Given the description of an element on the screen output the (x, y) to click on. 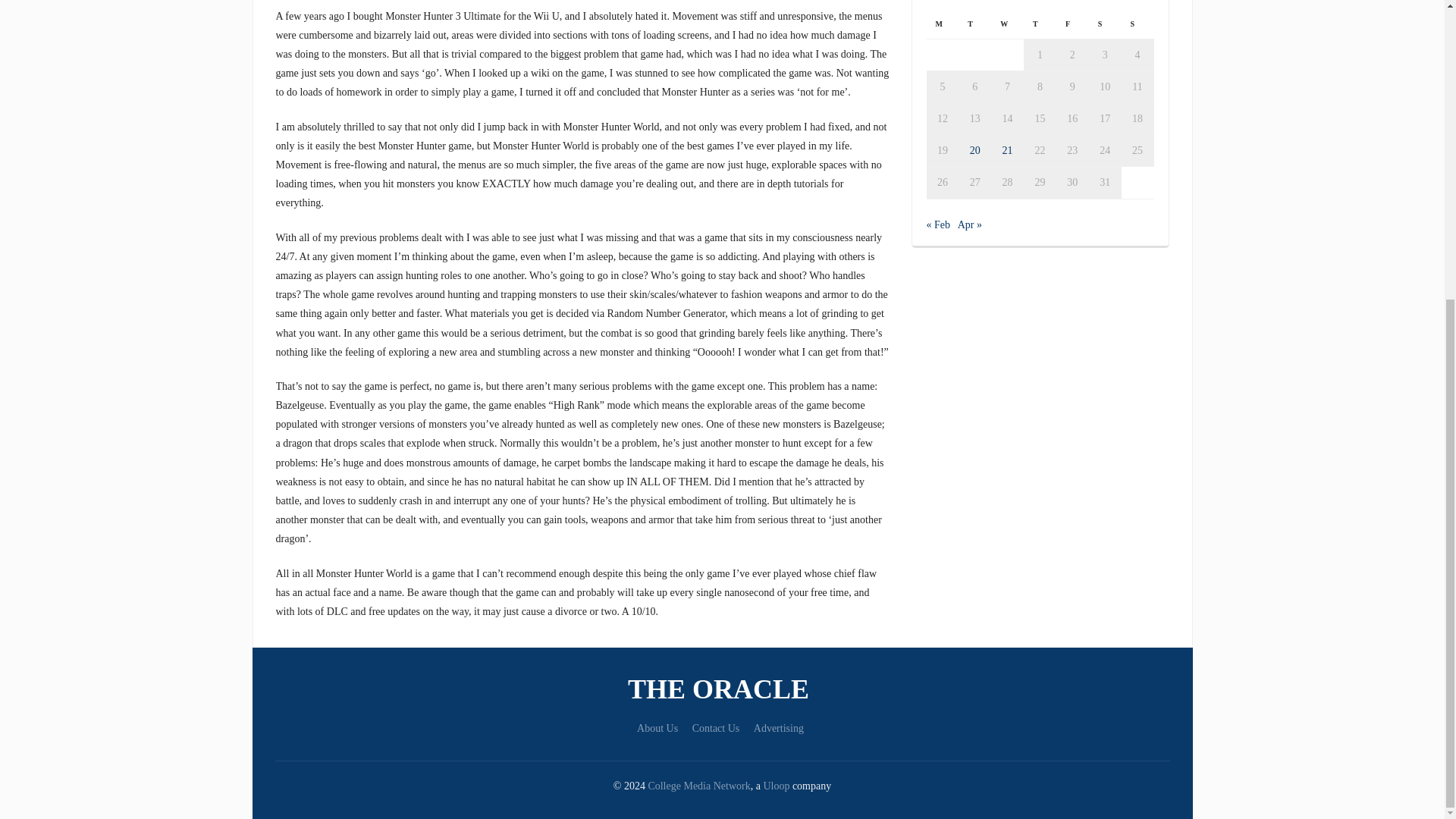
College Media Network (698, 785)
Thursday (1040, 23)
Tuesday (974, 23)
Contact Us (716, 727)
Sunday (1137, 23)
Advertising (778, 727)
20 (974, 150)
Monday (942, 23)
Friday (1073, 23)
Saturday (1105, 23)
